Given the description of an element on the screen output the (x, y) to click on. 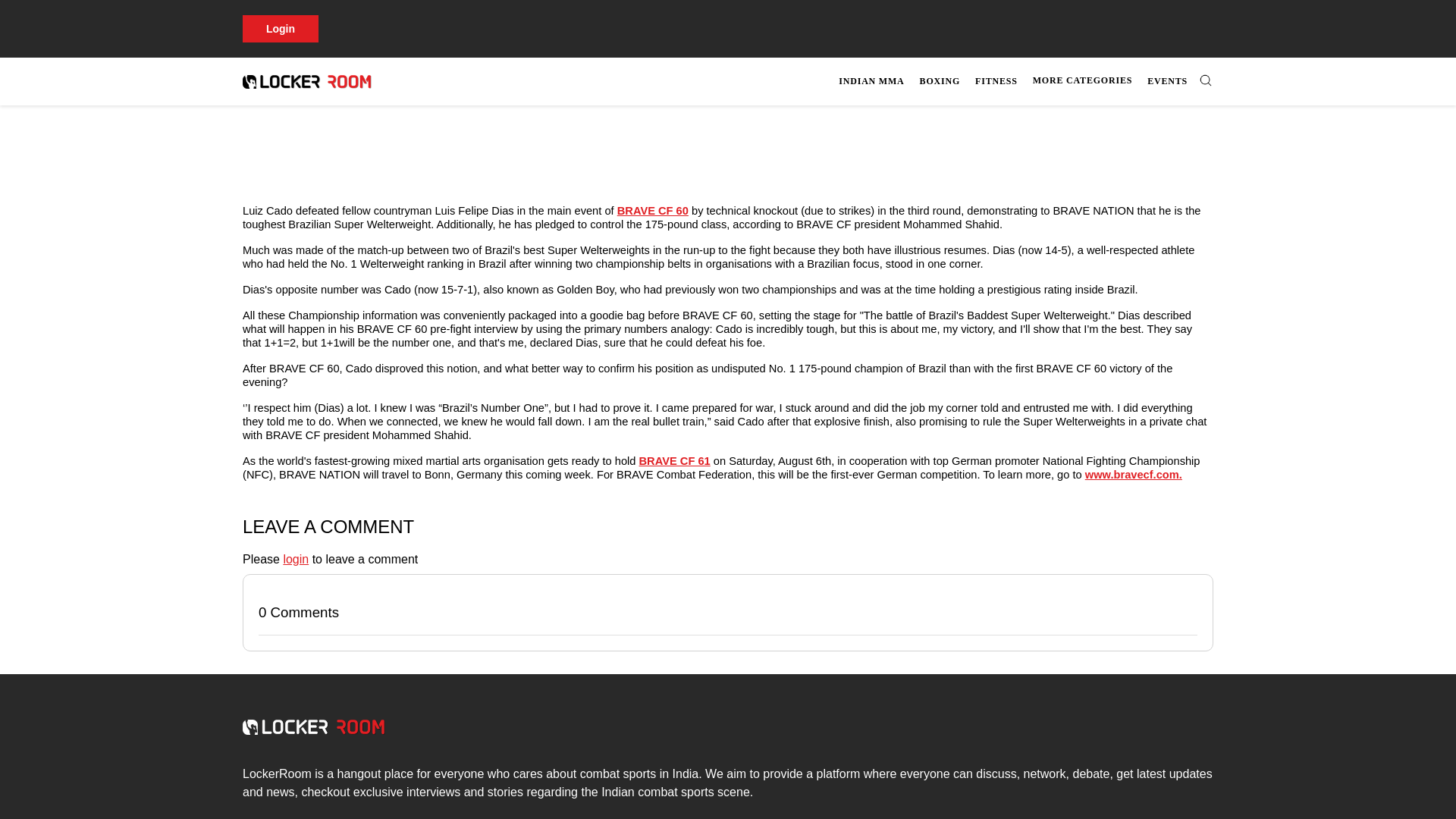
BRAVE CF 60 (652, 210)
BRAVE CF 61 (674, 460)
www.bravecf.com. (1133, 474)
